Given the description of an element on the screen output the (x, y) to click on. 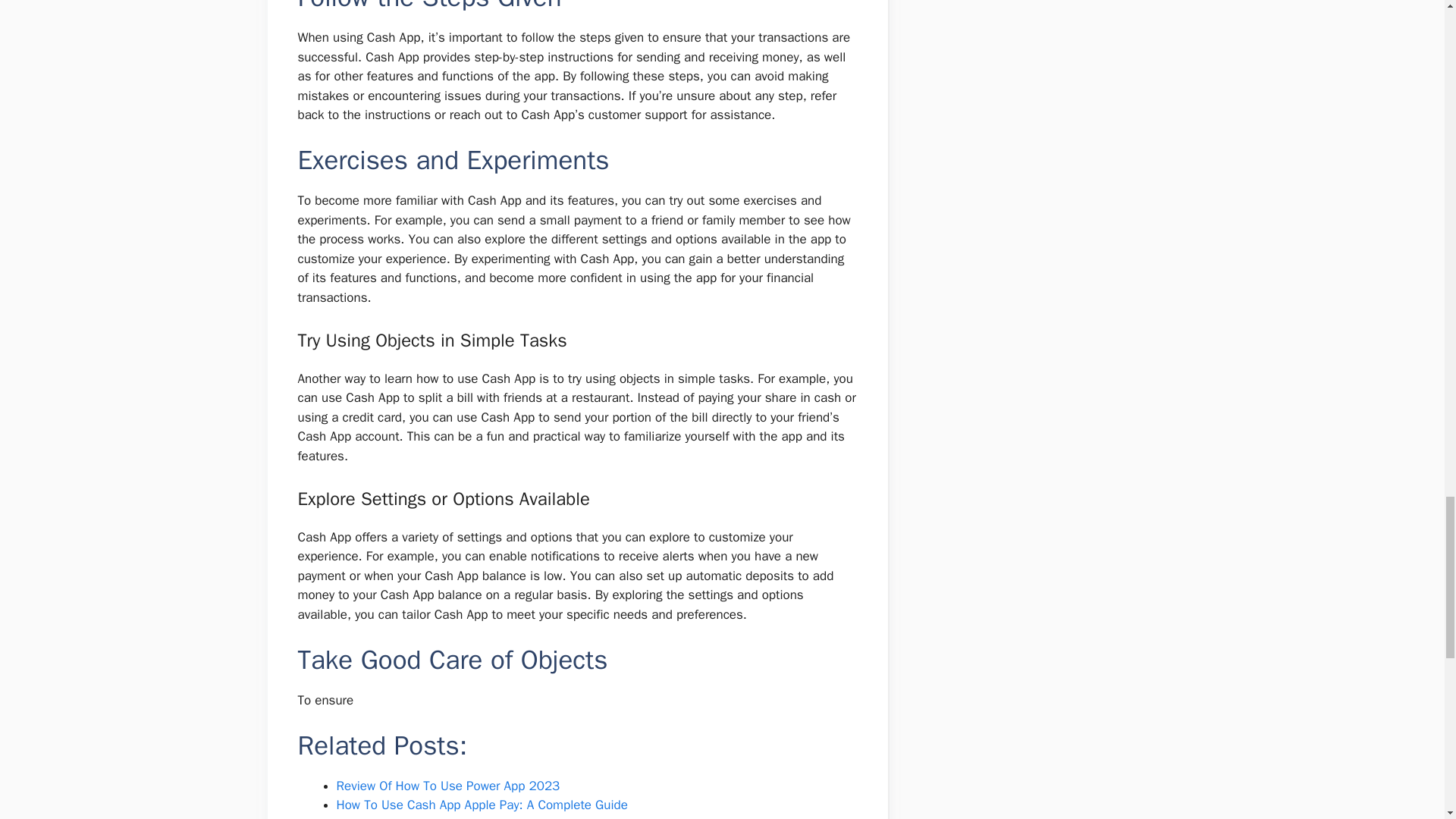
Review Of How To Use Power App 2023 (448, 785)
How To Use Cash App Apple Pay: A Complete Guide (481, 804)
